Given the description of an element on the screen output the (x, y) to click on. 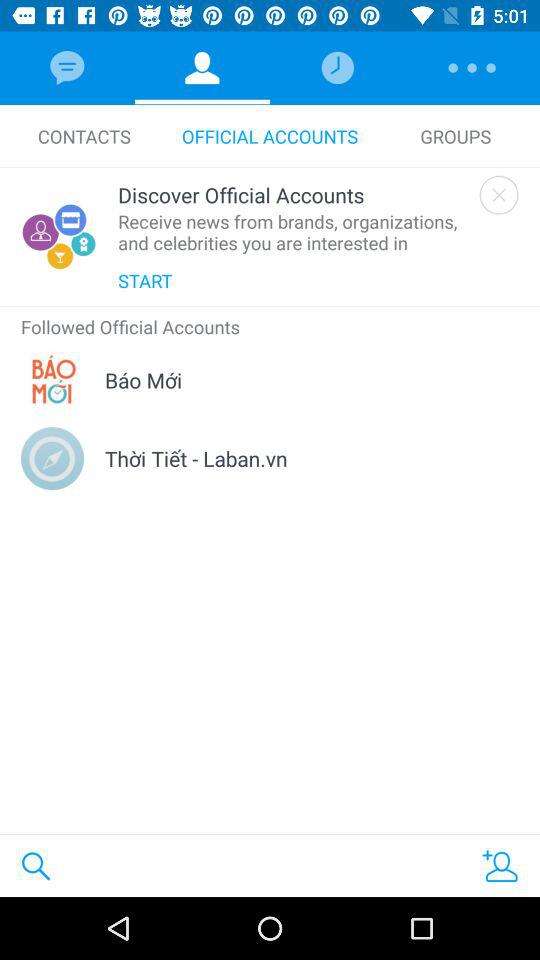
jump to contacts item (84, 136)
